Given the description of an element on the screen output the (x, y) to click on. 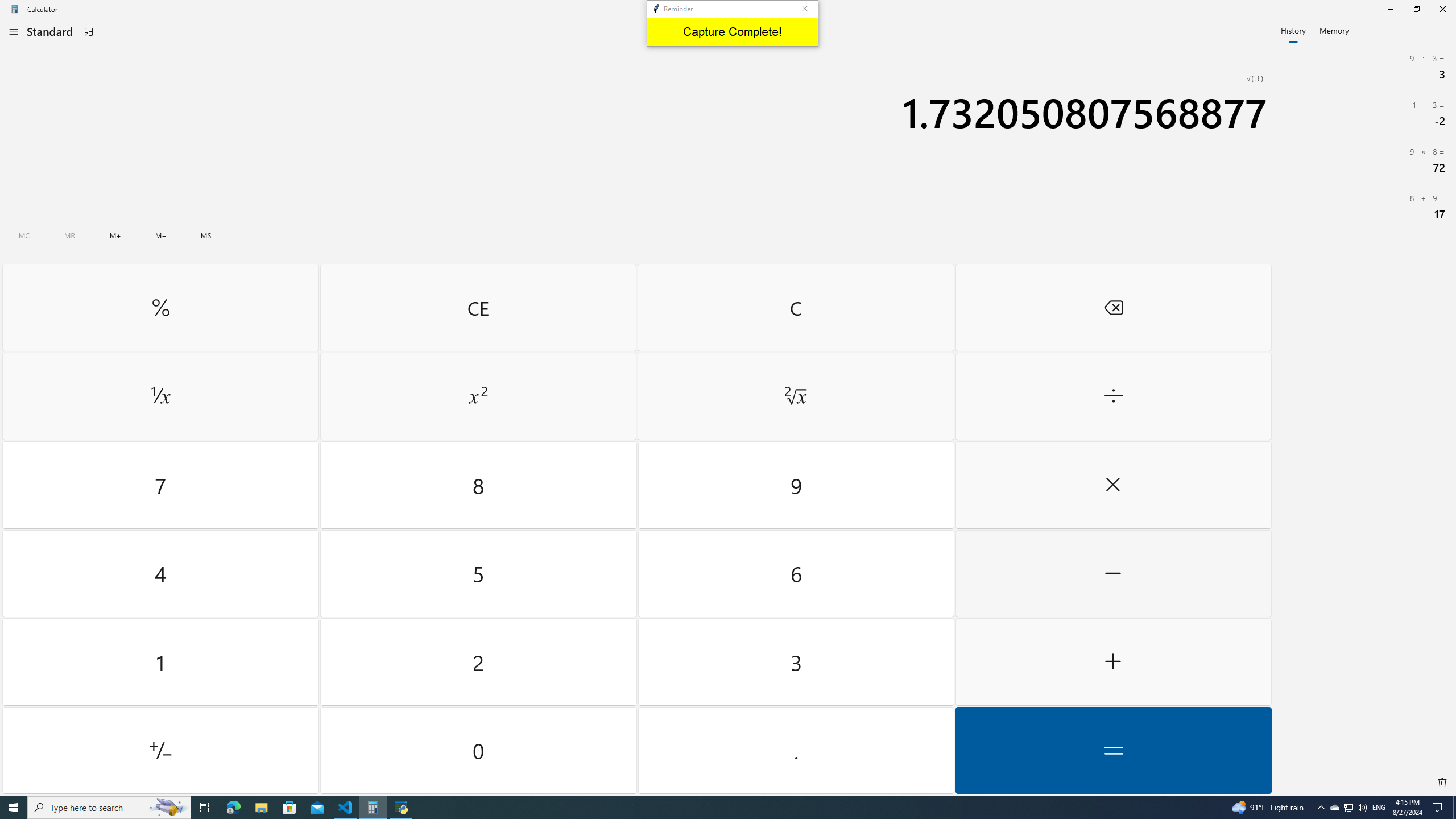
Equals (1113, 749)
